Given the description of an element on the screen output the (x, y) to click on. 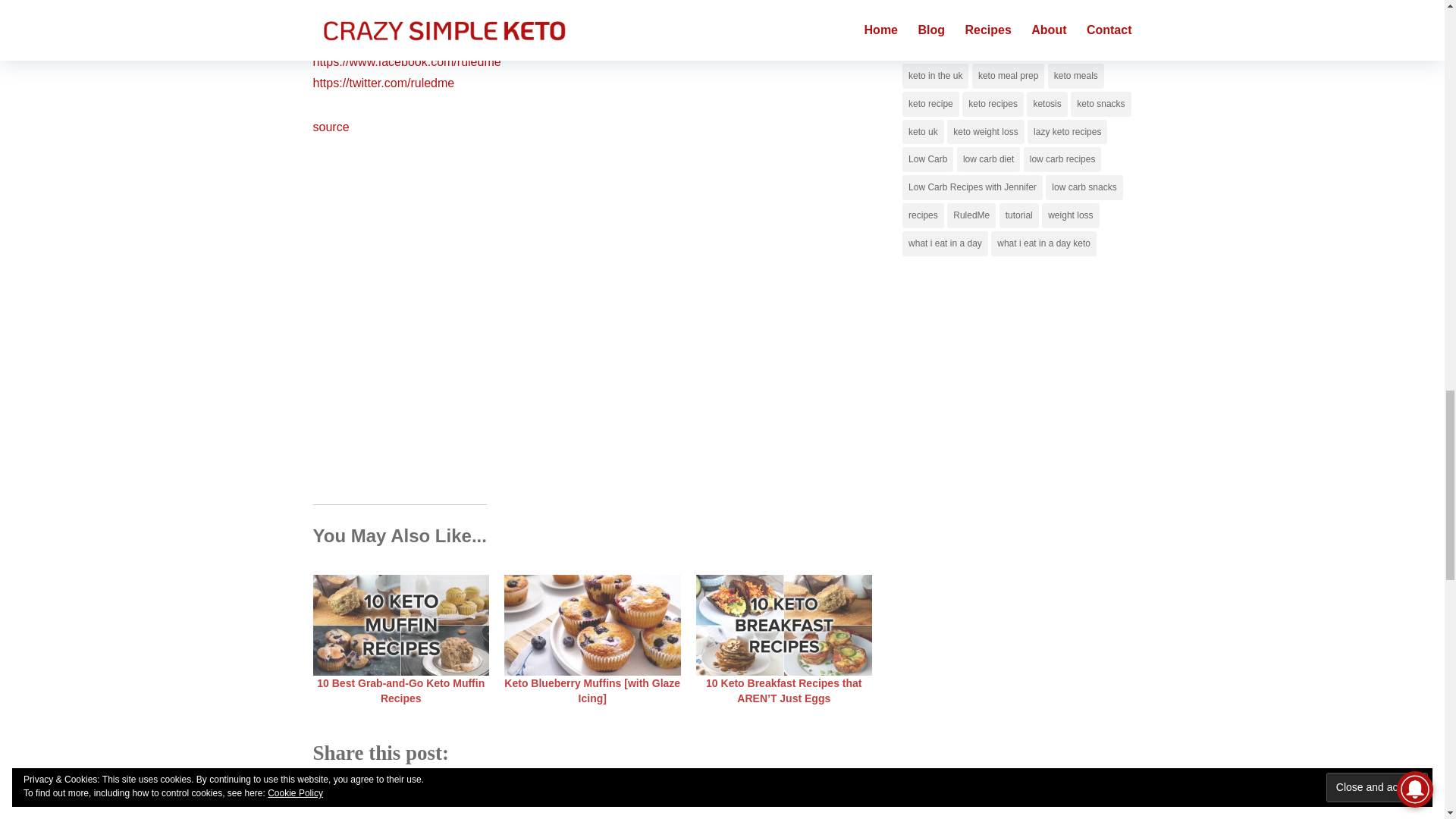
10 Best Grab-and-Go Keto Muffin Recipes (400, 690)
10 Best Grab-and-Go Keto Muffin Recipes (401, 624)
